Given the description of an element on the screen output the (x, y) to click on. 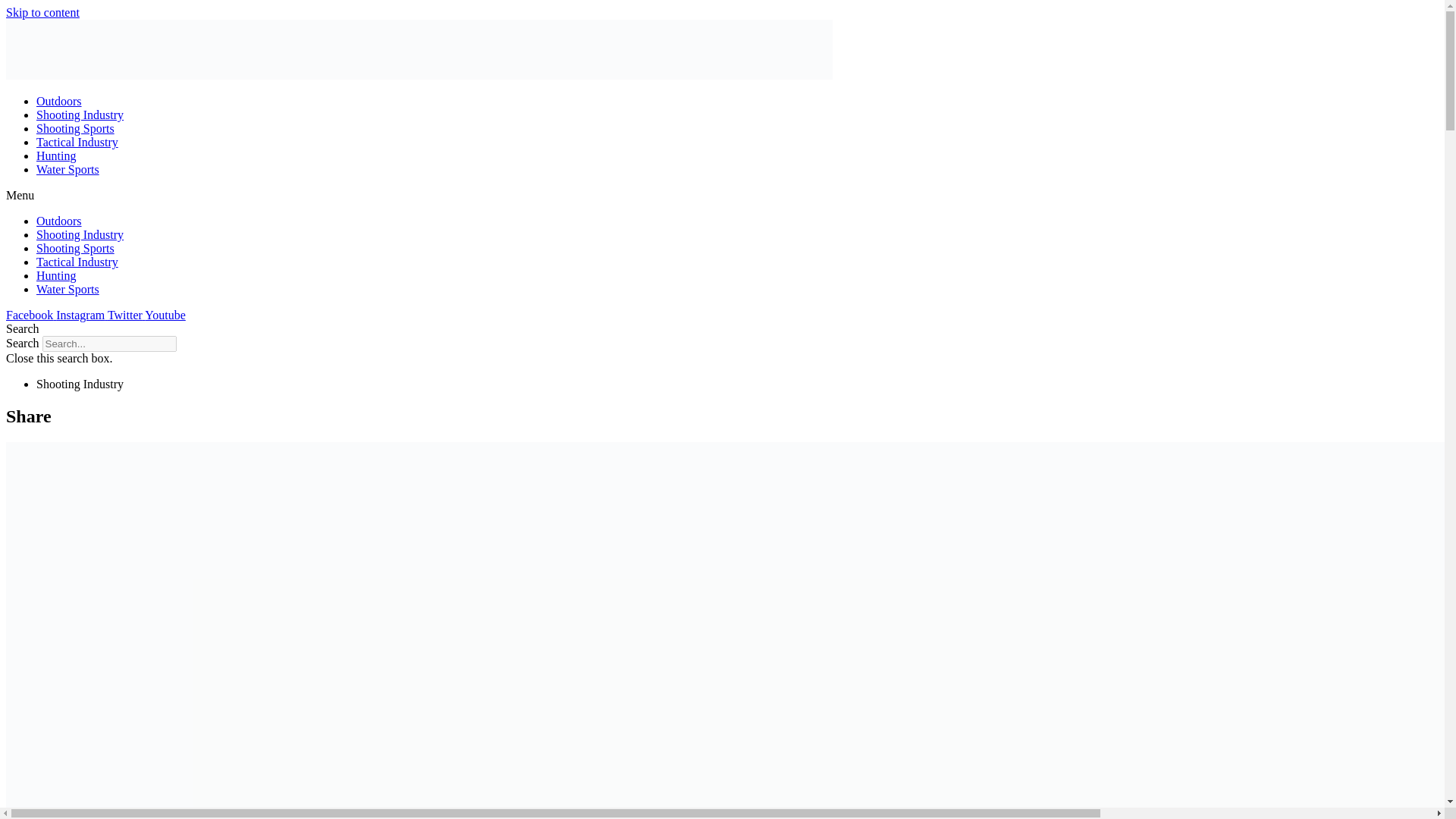
Facebook (30, 314)
Shooting Industry (79, 114)
Youtube (165, 314)
Water Sports (67, 169)
Shooting Sports (75, 247)
Shooting Industry (79, 234)
Tactical Industry (76, 141)
Tactical Industry (76, 261)
Skip to content (42, 11)
Shooting Sports (75, 128)
Outdoors (58, 101)
Water Sports (67, 288)
Instagram (81, 314)
Outdoors (58, 220)
Hunting (55, 275)
